Given the description of an element on the screen output the (x, y) to click on. 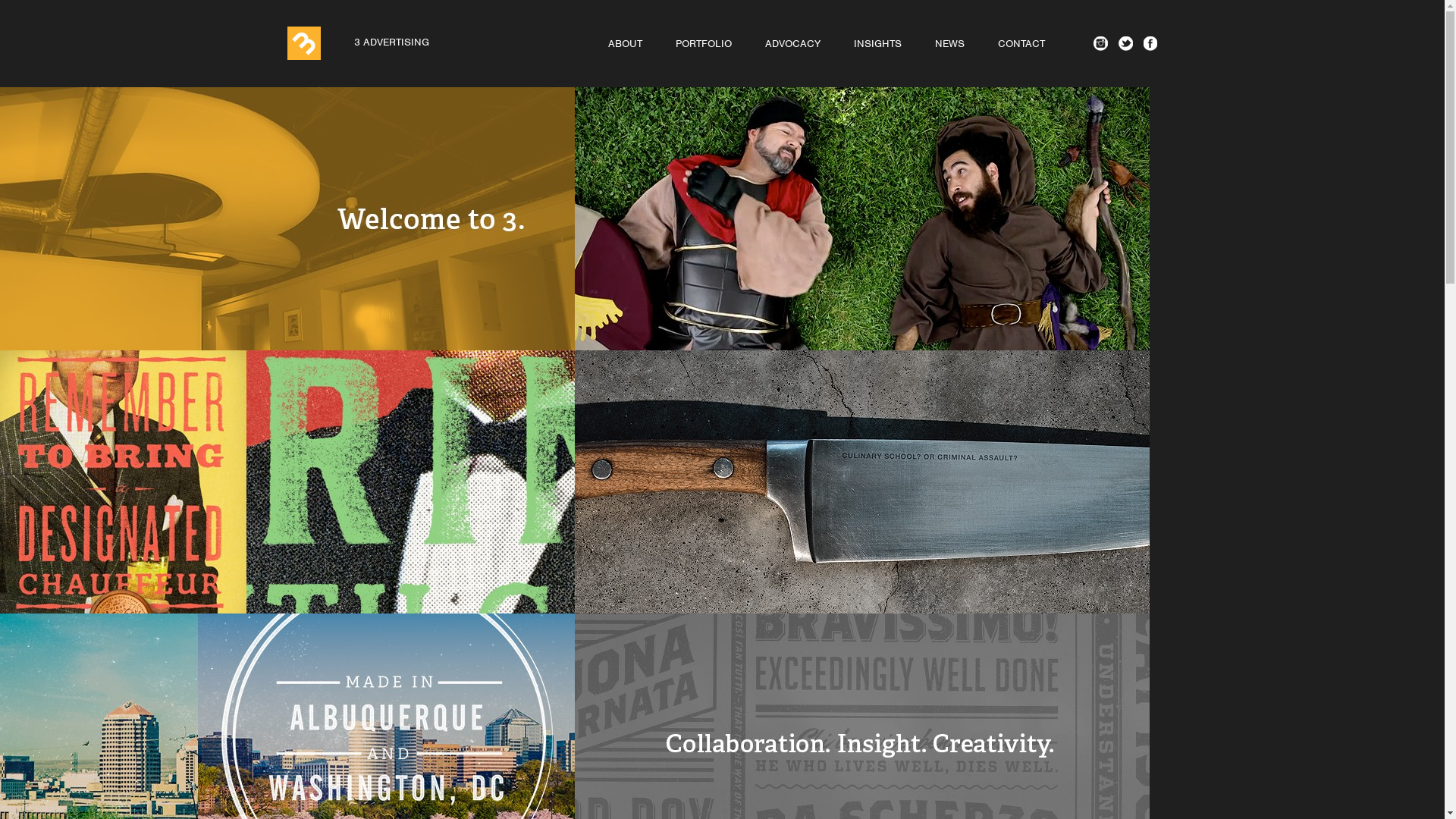
PORTFOLIO Element type: text (702, 45)
ABOUT Element type: text (625, 45)
ADVOCACY Element type: text (791, 45)
CONTACT Element type: text (1020, 45)
NEWS Element type: text (948, 45)
3 ADVERTISING Element type: text (362, 42)
INSIGHTS Element type: text (877, 45)
